Given the description of an element on the screen output the (x, y) to click on. 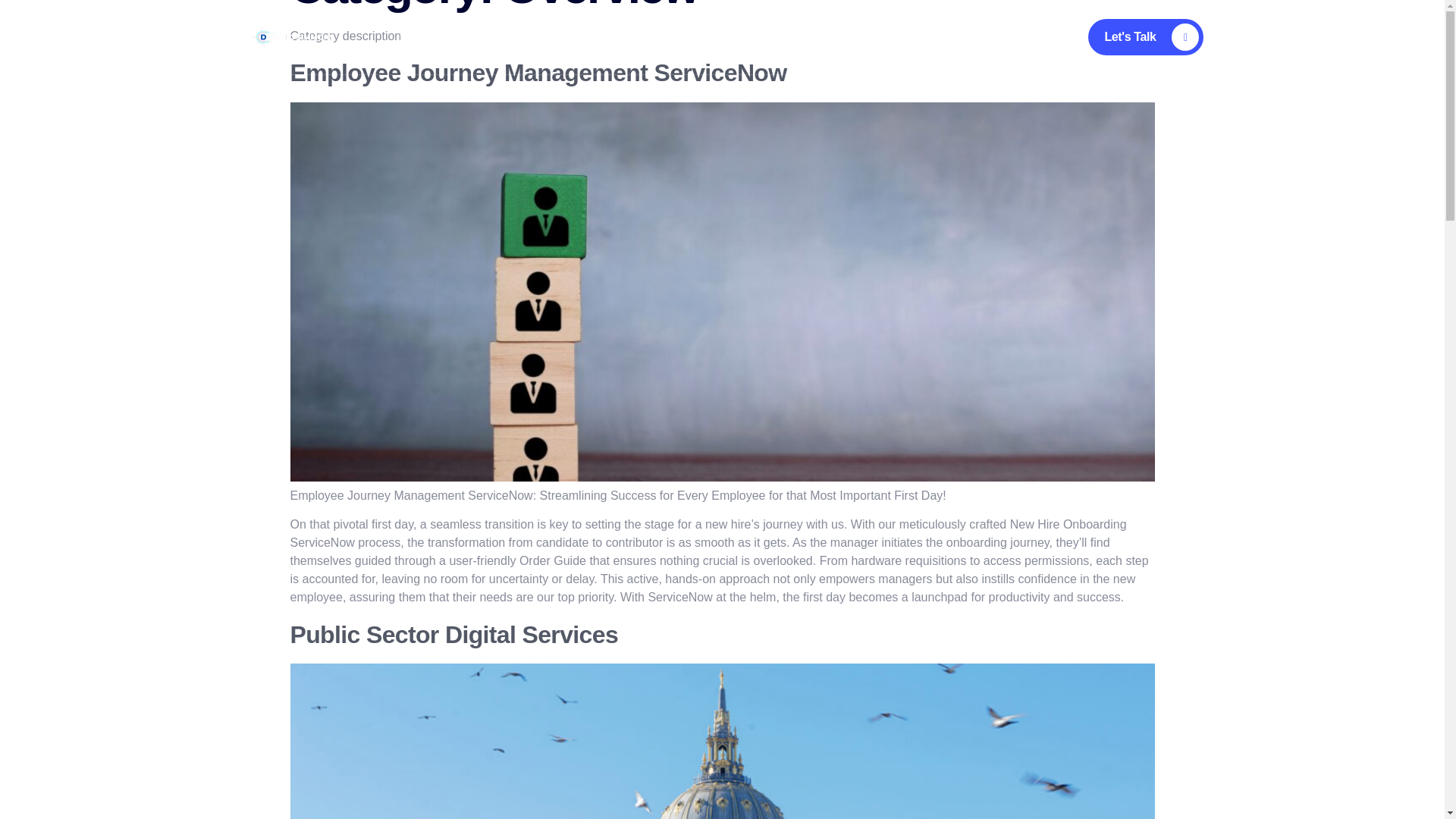
Services (614, 37)
About (531, 37)
Public Sector Digital Services (453, 633)
Home (454, 37)
Let's Talk (1145, 36)
Employee Journey Management ServiceNow (537, 72)
Blog (694, 37)
Knowledge Base (871, 37)
Contact (772, 37)
